Given the description of an element on the screen output the (x, y) to click on. 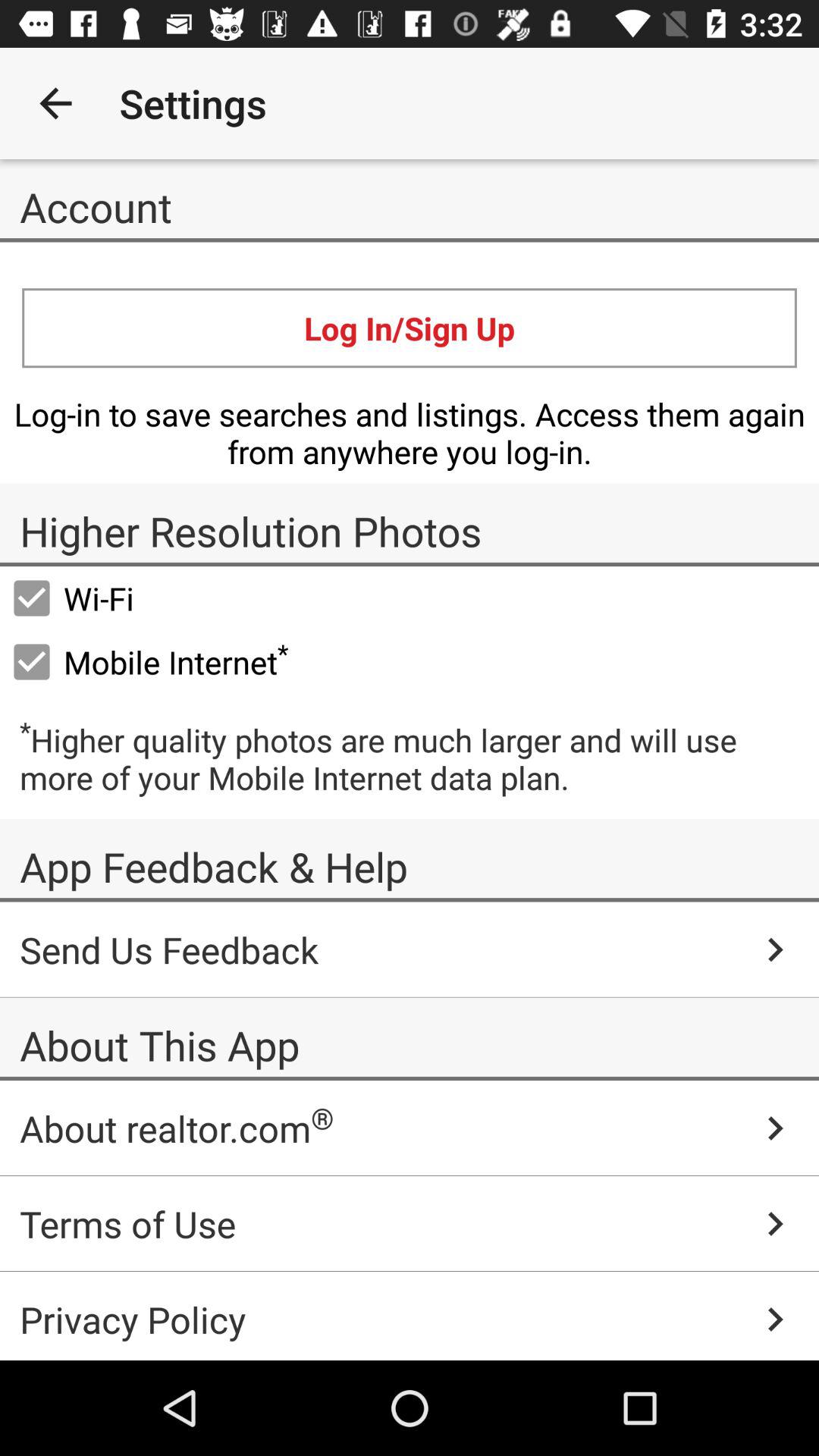
scroll to the privacy policy item (409, 1315)
